Given the description of an element on the screen output the (x, y) to click on. 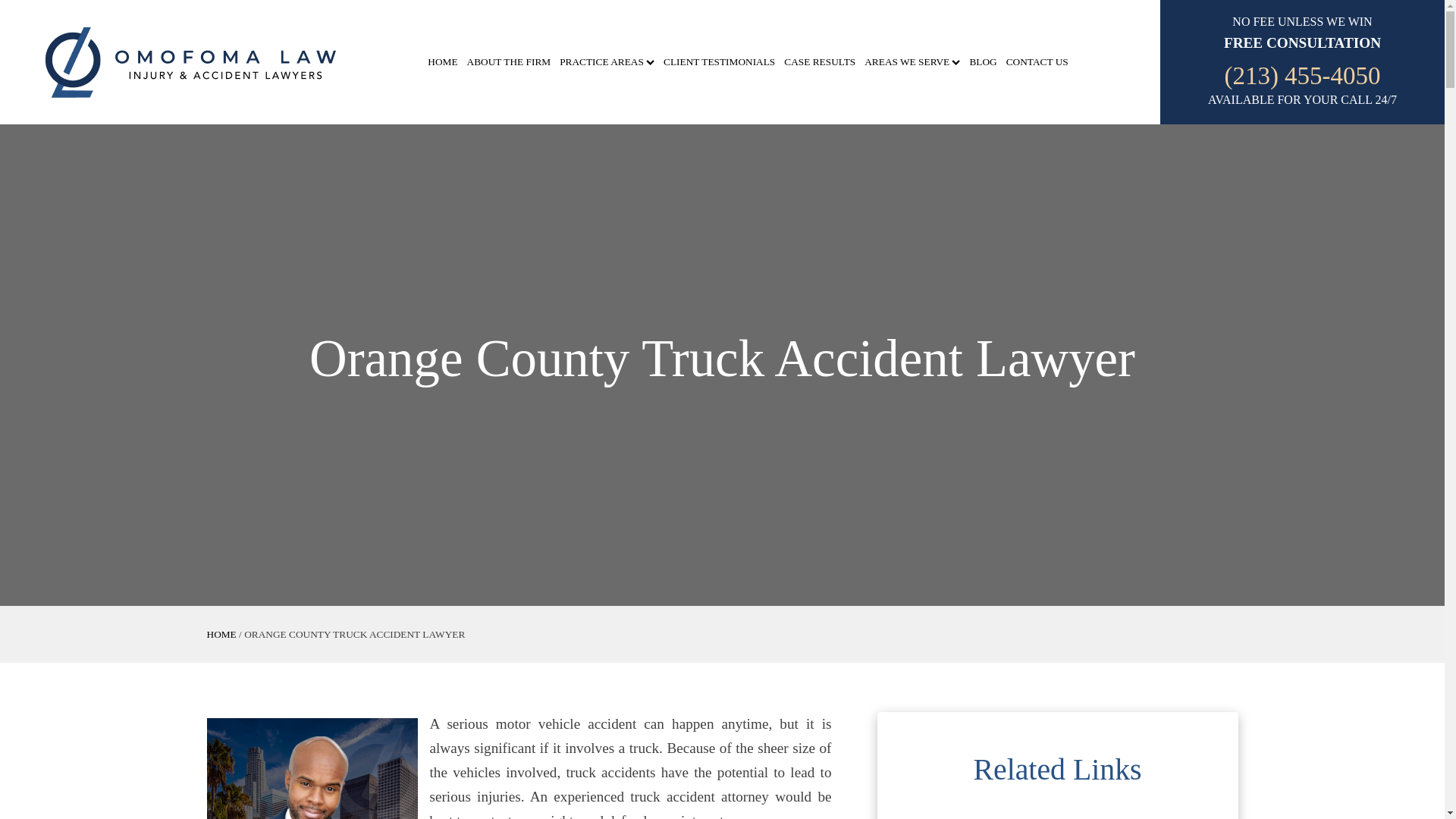
BLOG (982, 61)
AREAS WE SERVE (911, 61)
HOME (442, 61)
CASE RESULTS (819, 61)
CLIENT TESTIMONIALS (718, 61)
HOME (220, 633)
CONTACT US (1037, 61)
ABOUT THE FIRM (509, 61)
PRACTICE AREAS (606, 61)
